Given the description of an element on the screen output the (x, y) to click on. 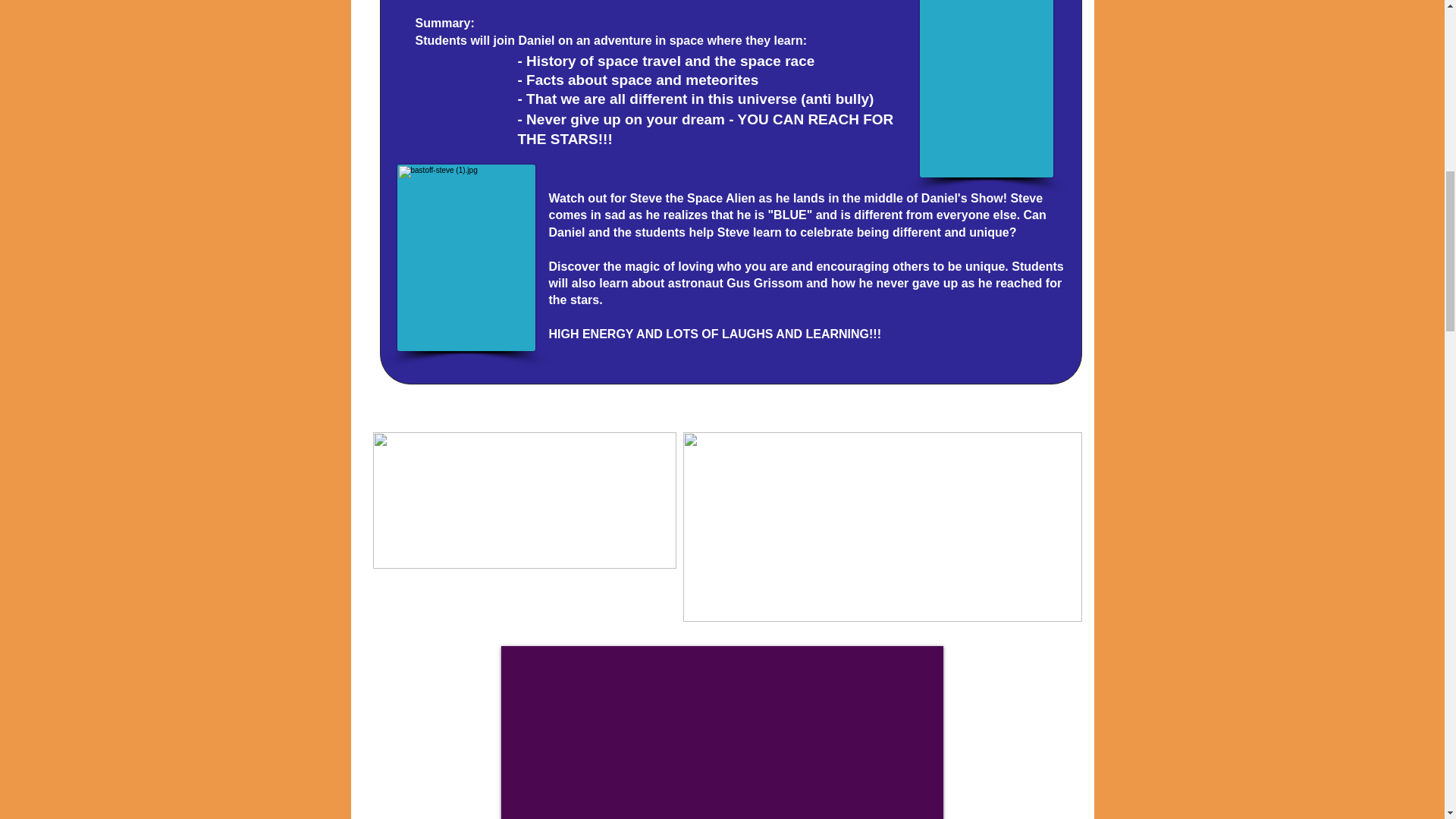
External YouTube (721, 732)
